Given the description of an element on the screen output the (x, y) to click on. 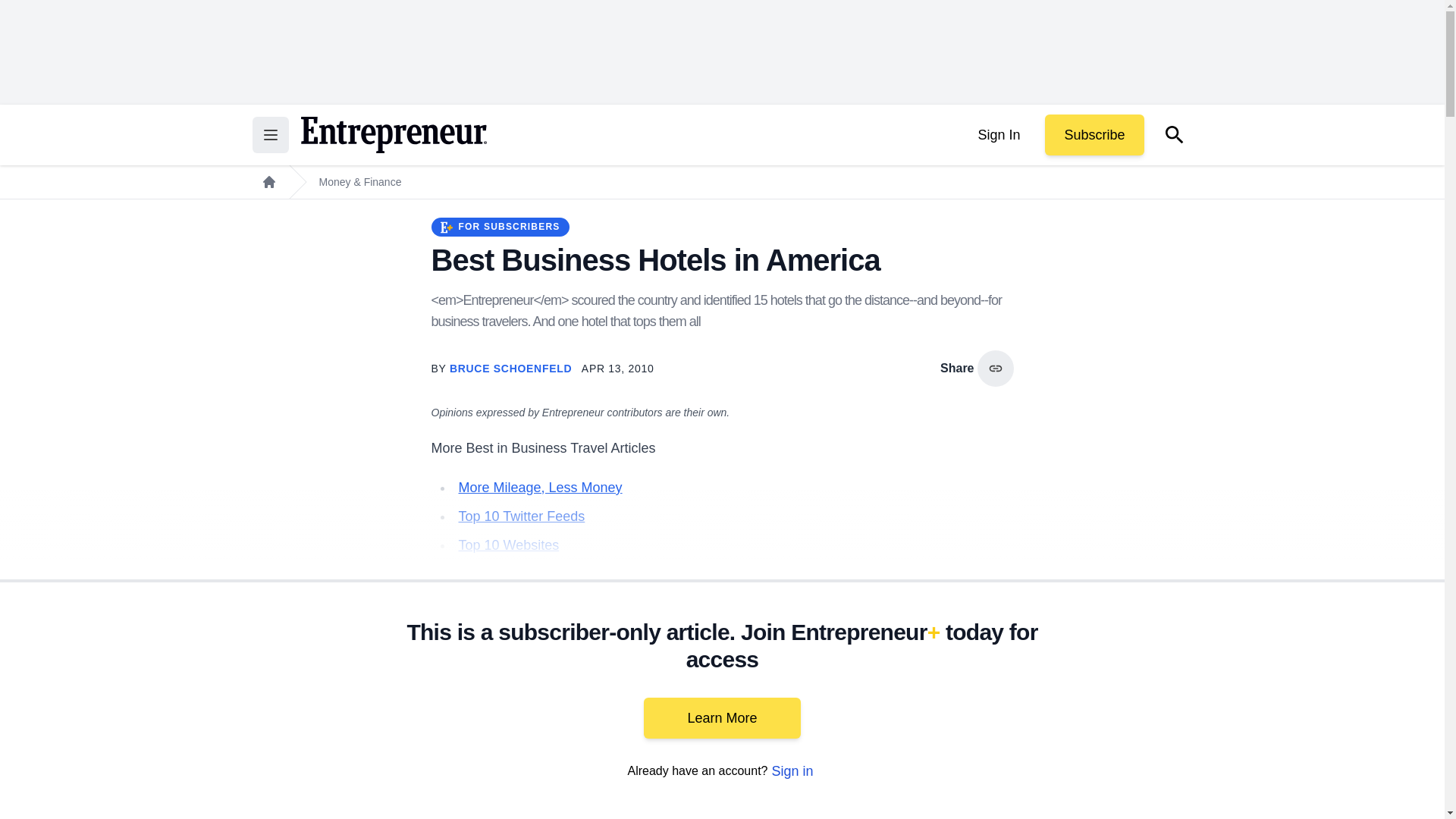
copy (994, 368)
Return to the home page (392, 135)
Sign In (998, 134)
Subscribe (1093, 134)
